Given the description of an element on the screen output the (x, y) to click on. 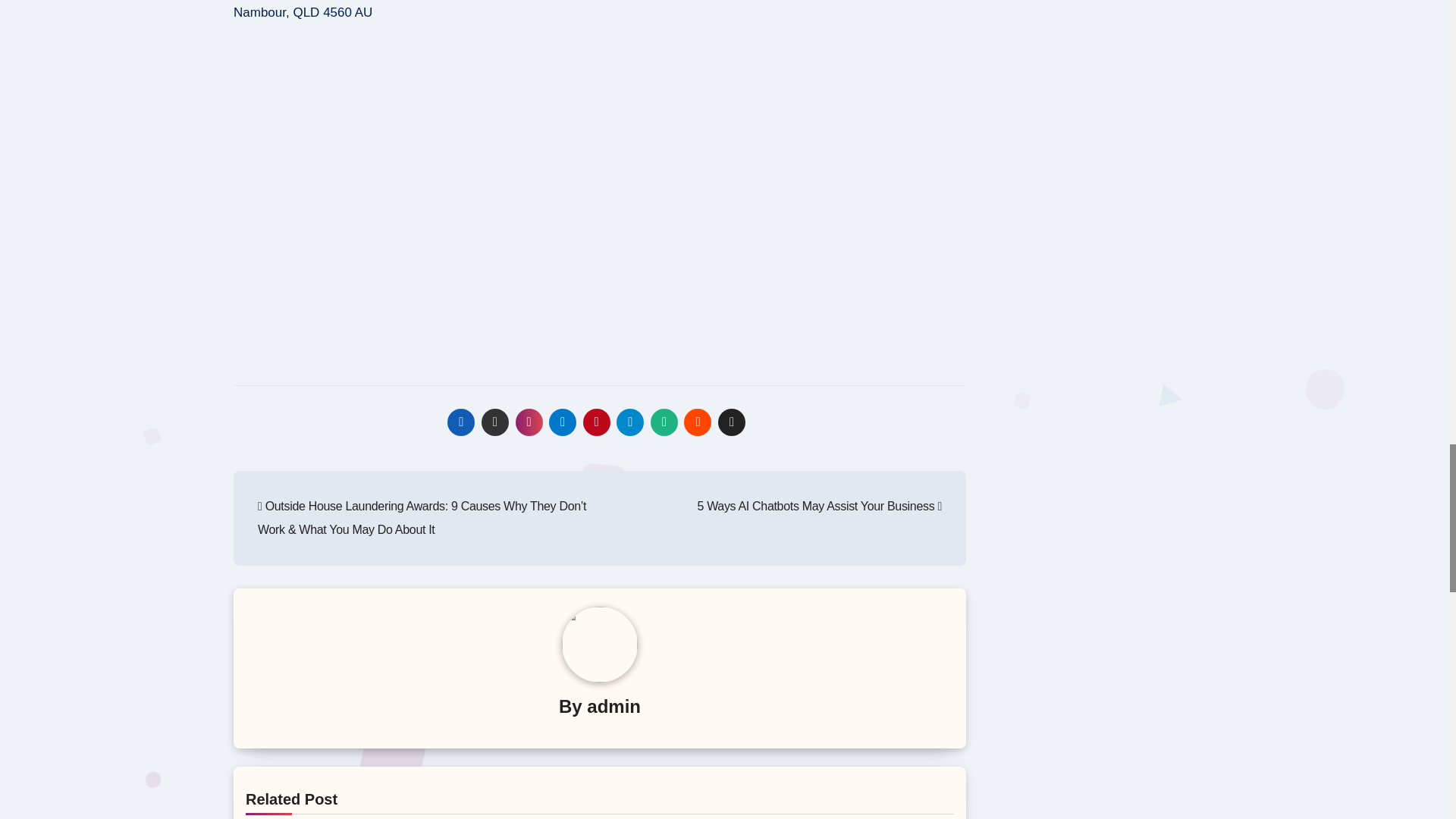
5 Ways AI Chatbots May Assist Your Business (819, 505)
admin (613, 706)
